Given the description of an element on the screen output the (x, y) to click on. 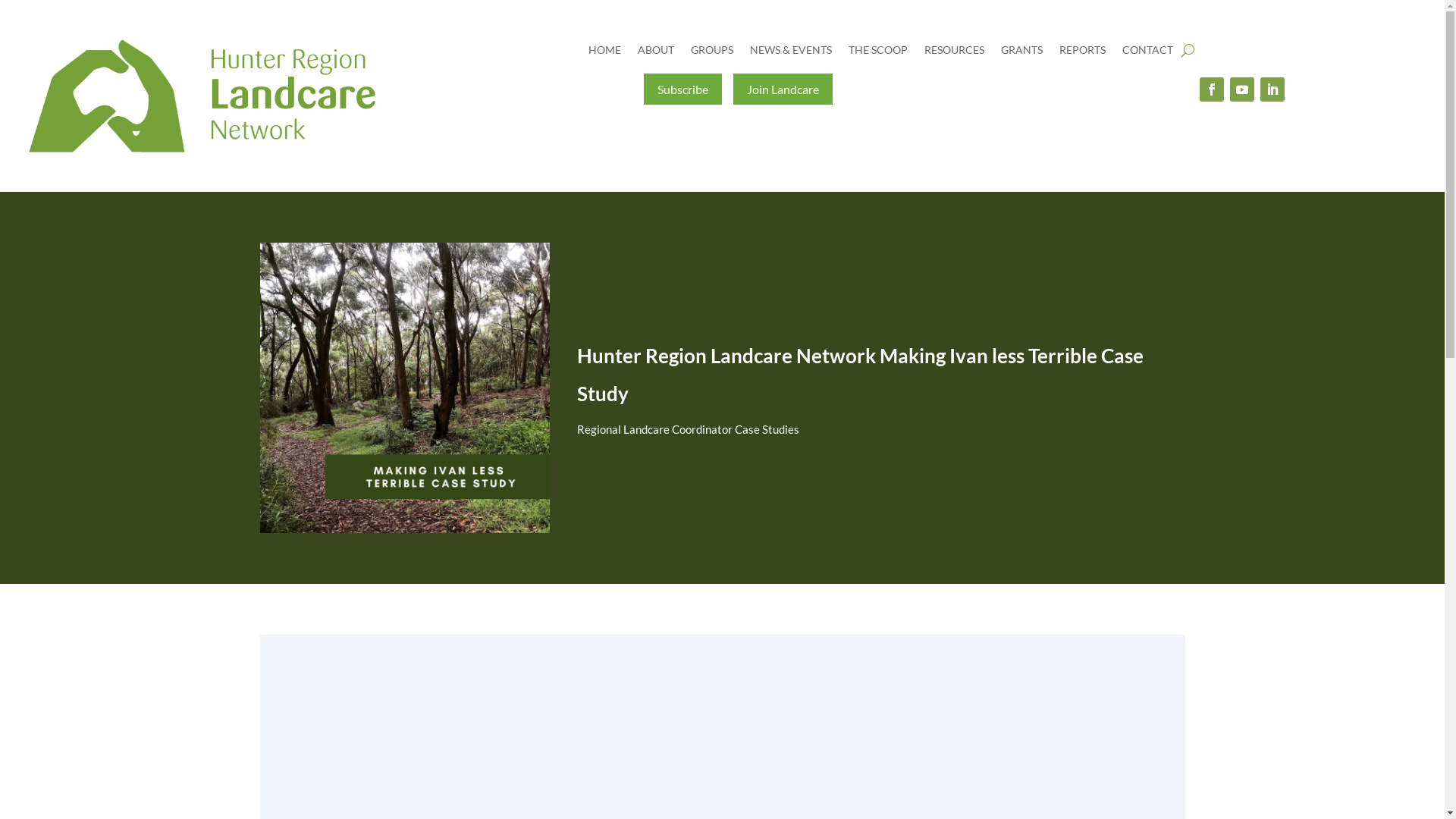
THE SCOOP Element type: text (877, 52)
NEWS & EVENTS Element type: text (790, 52)
Hunter Region Landcare Network logo Element type: hover (201, 95)
Making Ivan Less terrible case study Element type: hover (404, 387)
Follow on Youtube Element type: hover (1242, 89)
Follow on LinkedIn Element type: hover (1272, 89)
CONTACT Element type: text (1147, 52)
Join Landcare Element type: text (782, 88)
RESOURCES Element type: text (954, 52)
Follow on Facebook Element type: hover (1211, 89)
Subscribe Element type: text (682, 88)
HOME Element type: text (604, 52)
GRANTS Element type: text (1021, 52)
REPORTS Element type: text (1082, 52)
ABOUT Element type: text (655, 52)
Regional Landcare Coordinator Case Studies Element type: text (688, 429)
GROUPS Element type: text (711, 52)
